Given the description of an element on the screen output the (x, y) to click on. 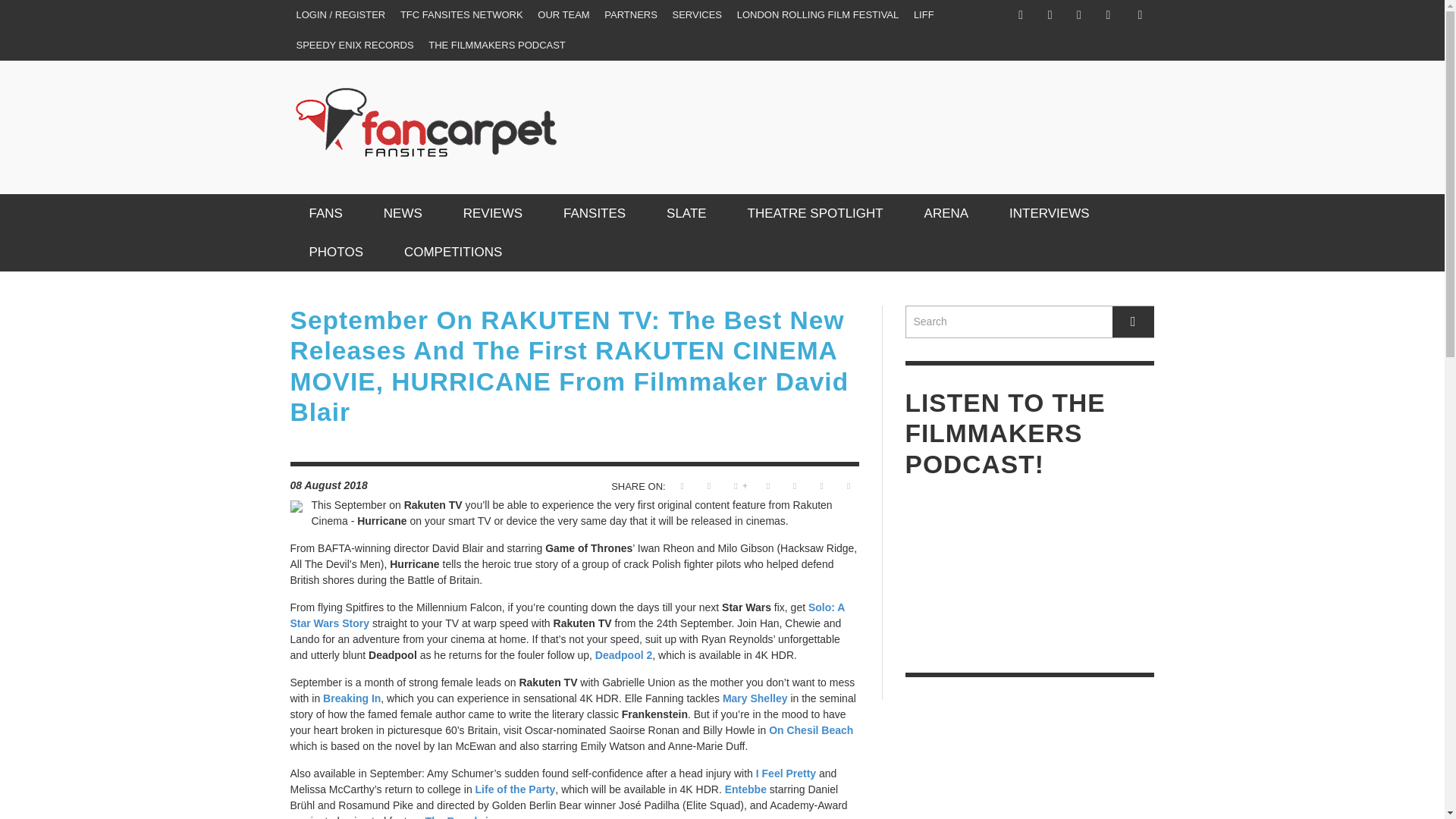
TFC FANSITES NETWORK (461, 15)
LONDON ROLLING FILM FESTIVAL (817, 15)
Instagram (1049, 15)
THE FILMMAKERS PODCAST (497, 45)
SERVICES (697, 15)
OUR TEAM (563, 15)
SPEEDY ENIX RECORDS (354, 45)
PARTNERS (630, 15)
Search (1029, 321)
LIFF (923, 15)
